Given the description of an element on the screen output the (x, y) to click on. 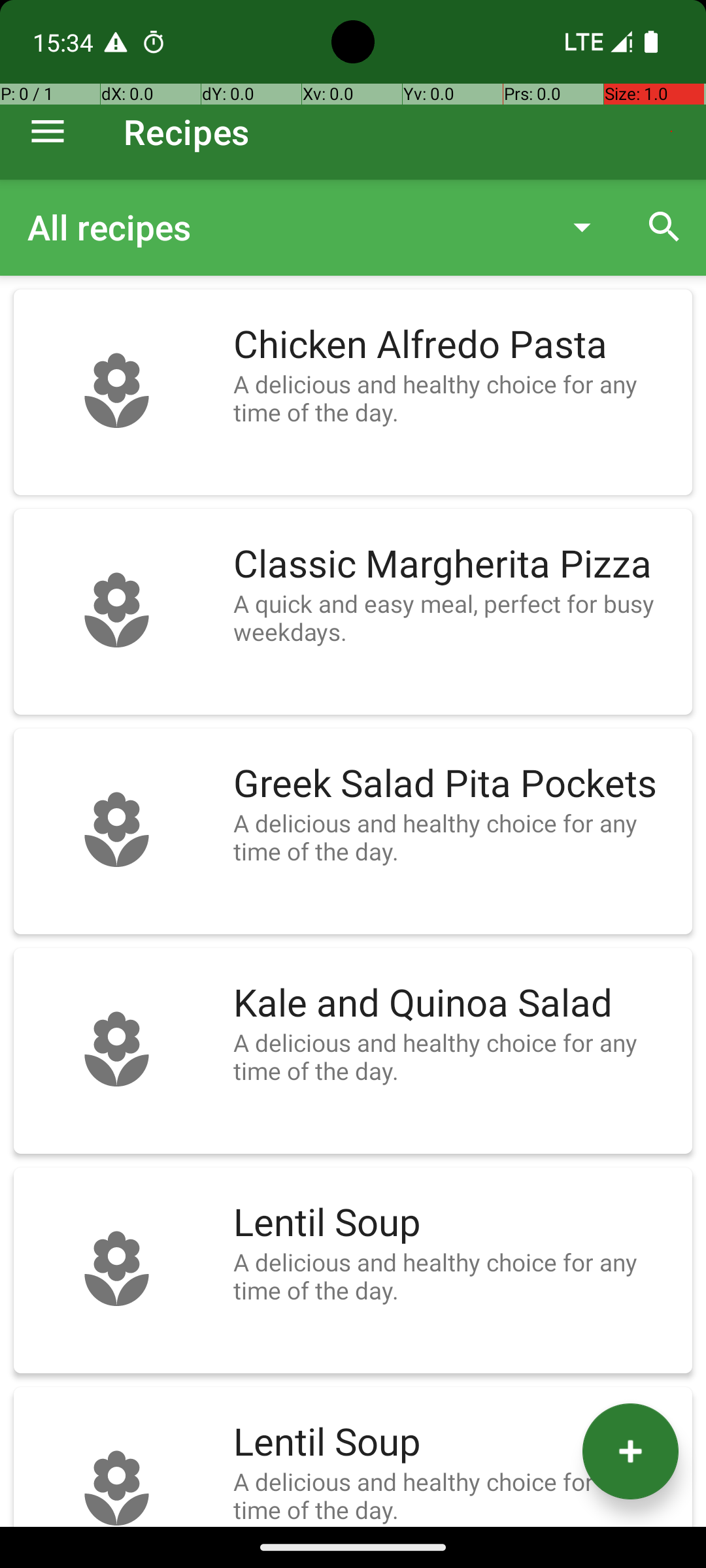
Classic Margherita Pizza Element type: android.widget.TextView (455, 564)
Greek Salad Pita Pockets Element type: android.widget.TextView (455, 783)
Kale and Quinoa Salad Element type: android.widget.TextView (455, 1003)
Lentil Soup Element type: android.widget.TextView (455, 1222)
